Given the description of an element on the screen output the (x, y) to click on. 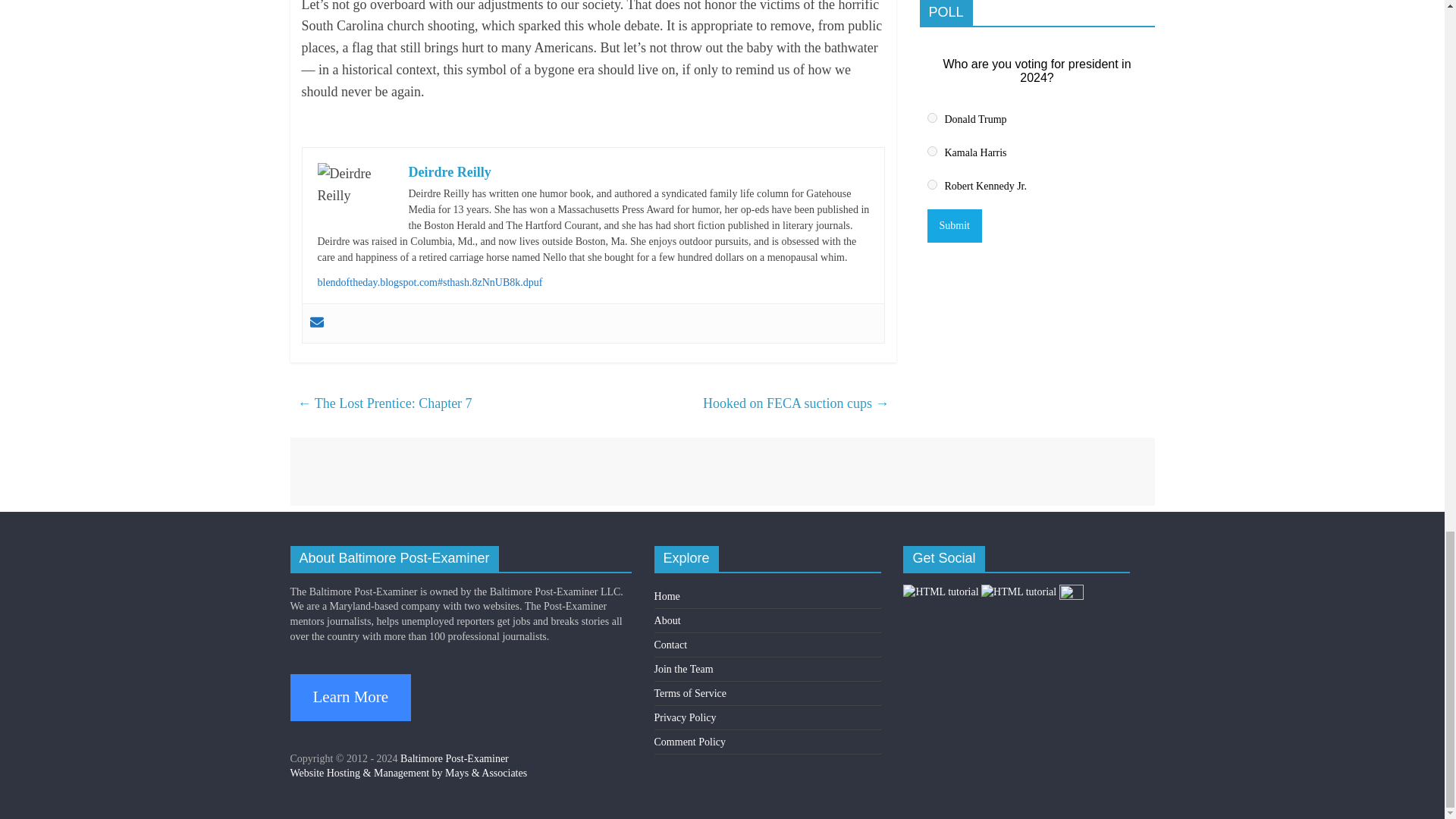
User email (315, 323)
Baltimore Post-Examiner (454, 758)
Deirdre Reilly (448, 171)
2 (931, 151)
1 (931, 117)
3 (931, 184)
